Given the description of an element on the screen output the (x, y) to click on. 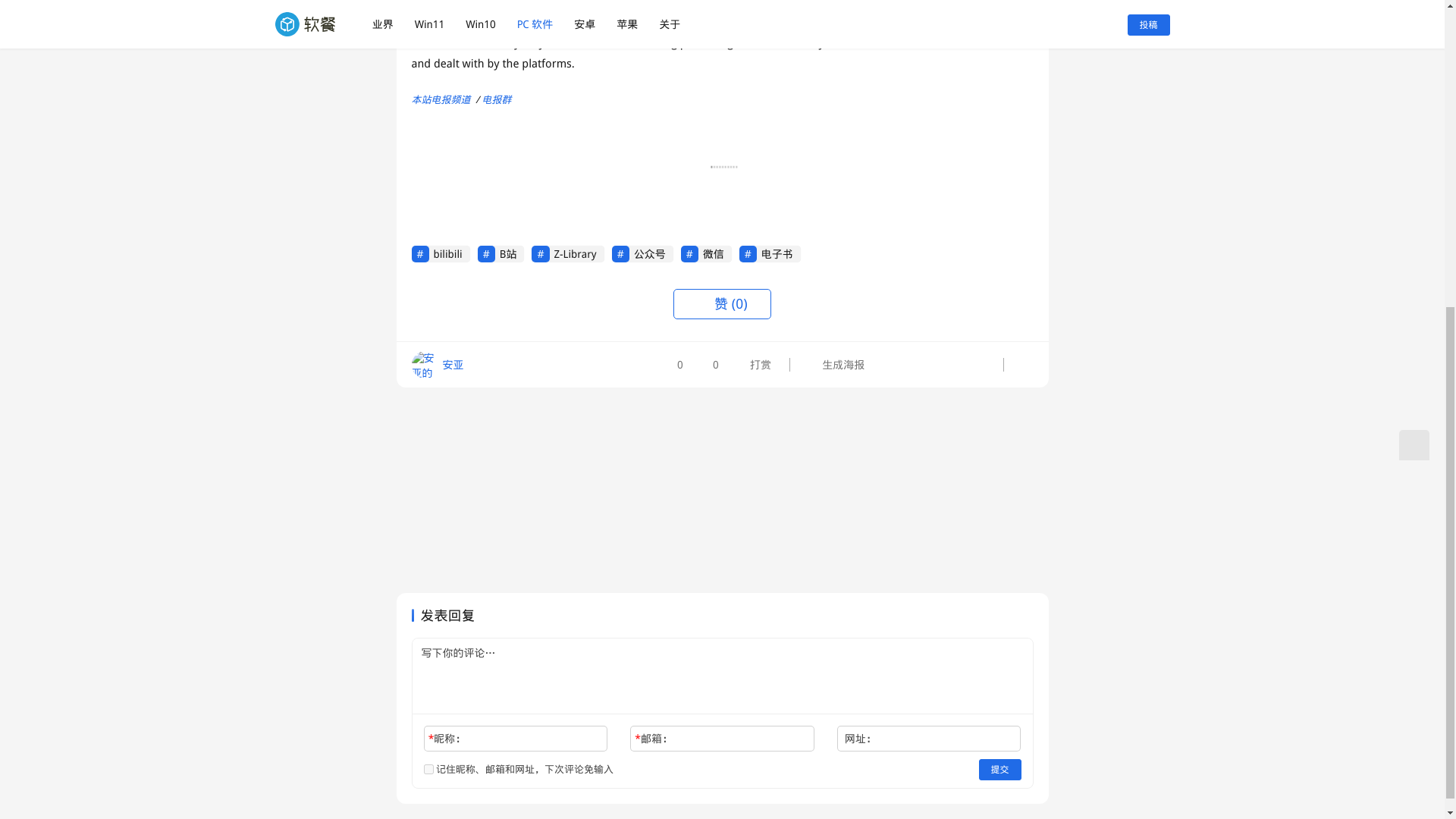
0 (707, 364)
yes (427, 768)
0 (675, 364)
bilibili (439, 253)
Z-Library (567, 253)
